Given the description of an element on the screen output the (x, y) to click on. 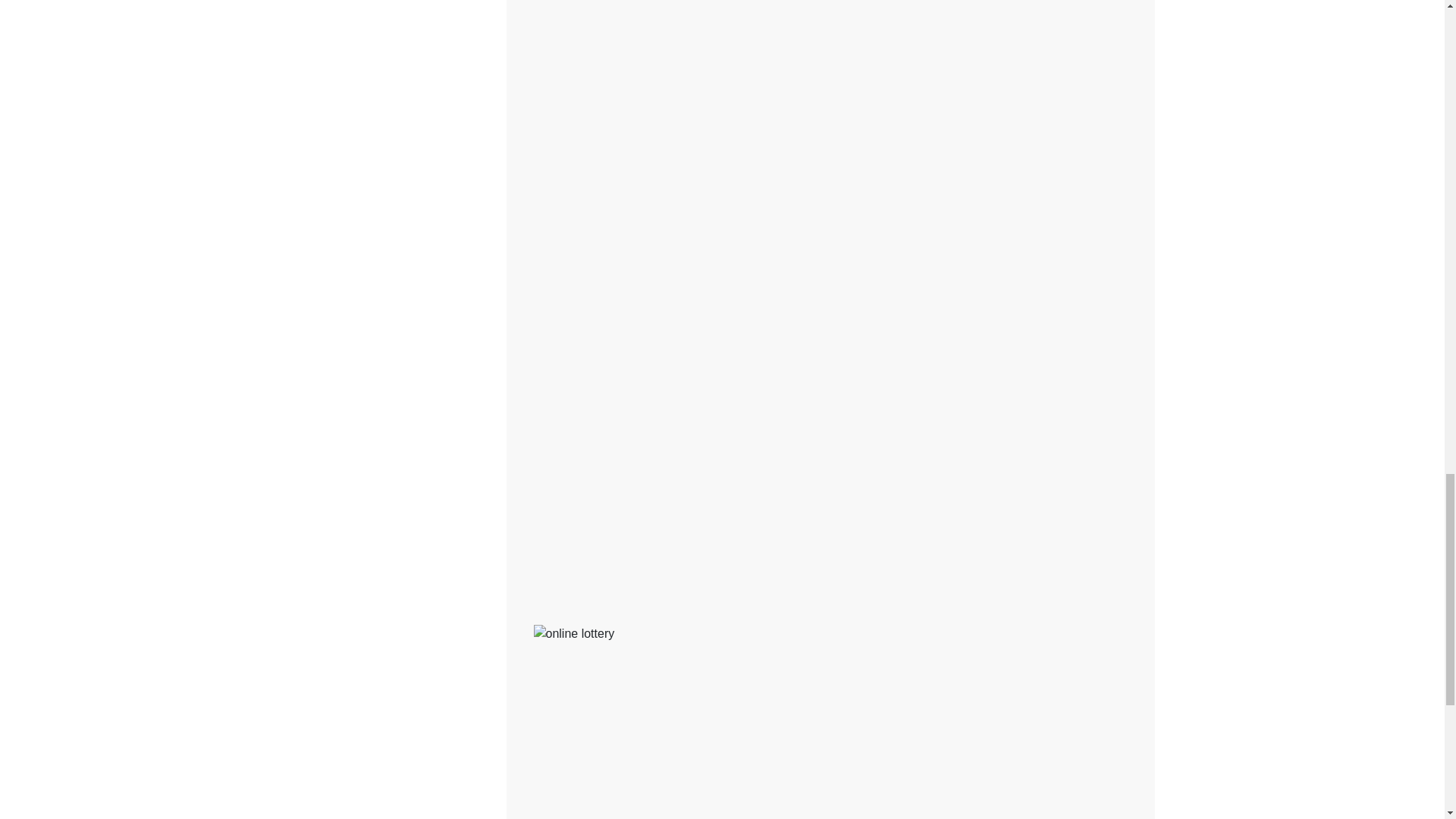
1:50 am (609, 532)
View all posts by admin (675, 532)
